Given the description of an element on the screen output the (x, y) to click on. 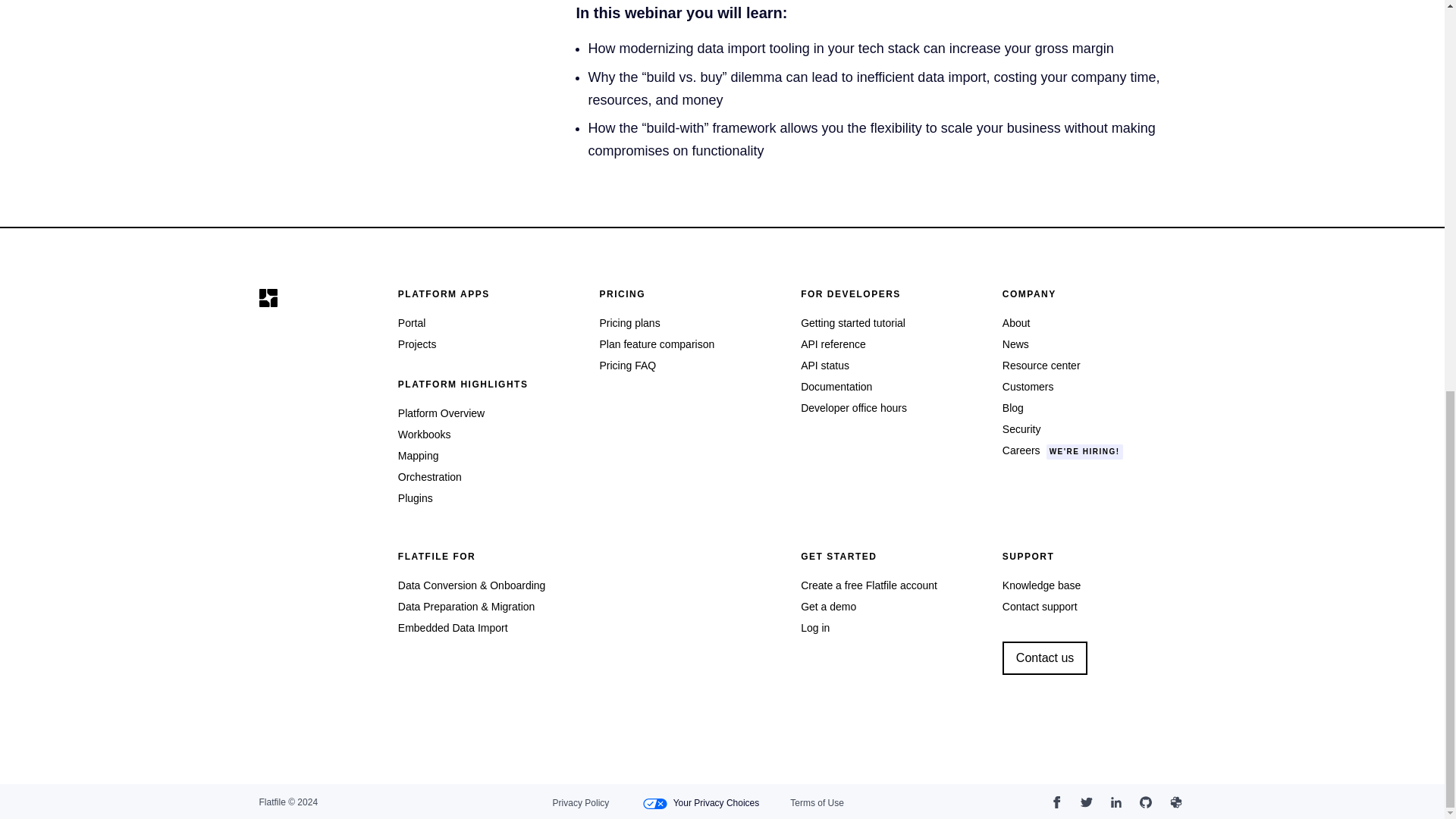
Portal (411, 322)
Platform Overview (440, 413)
Projects (416, 344)
Workbooks (424, 434)
